Given the description of an element on the screen output the (x, y) to click on. 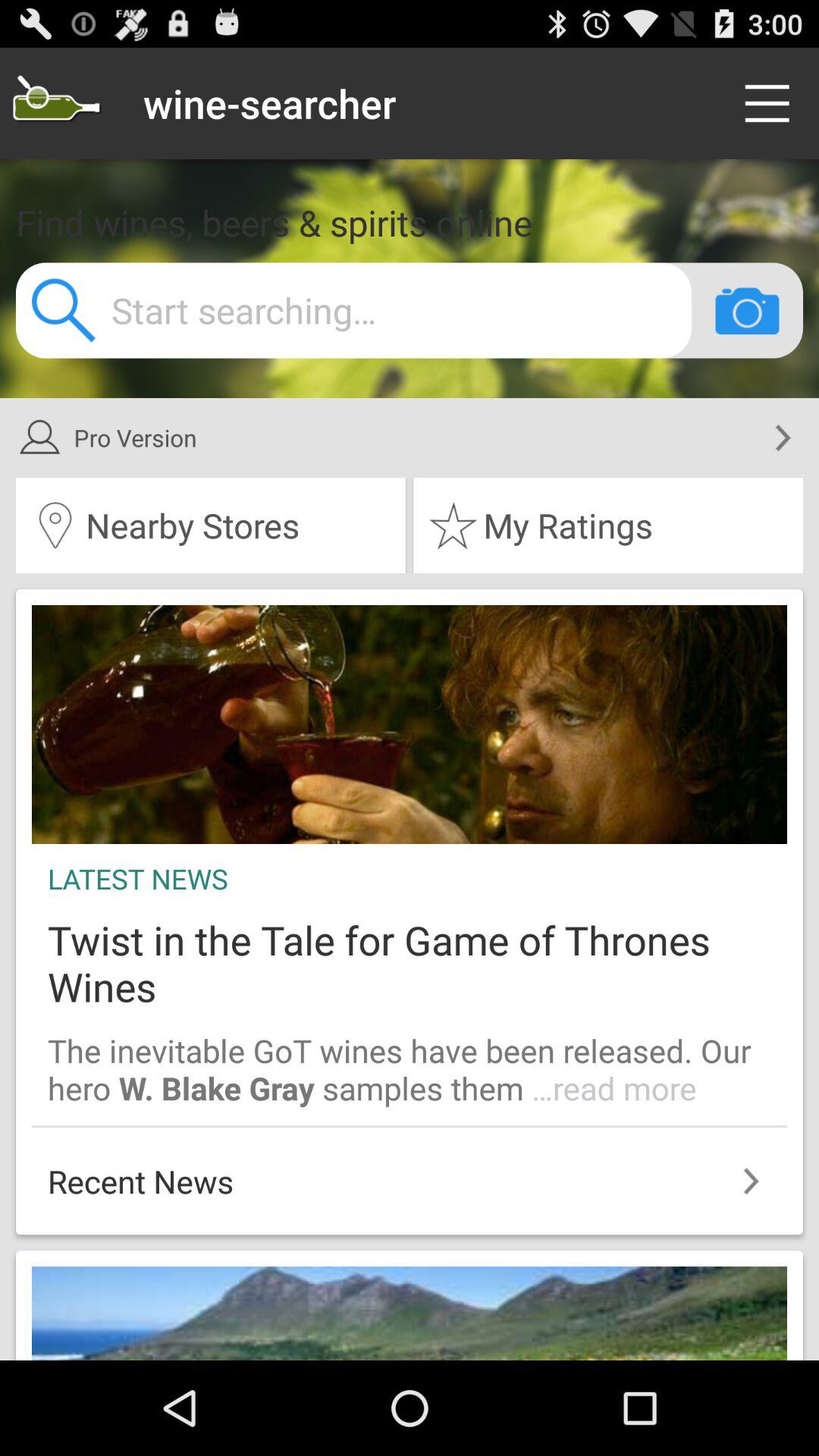
press the icon to the left of the my ratings item (210, 525)
